Given the description of an element on the screen output the (x, y) to click on. 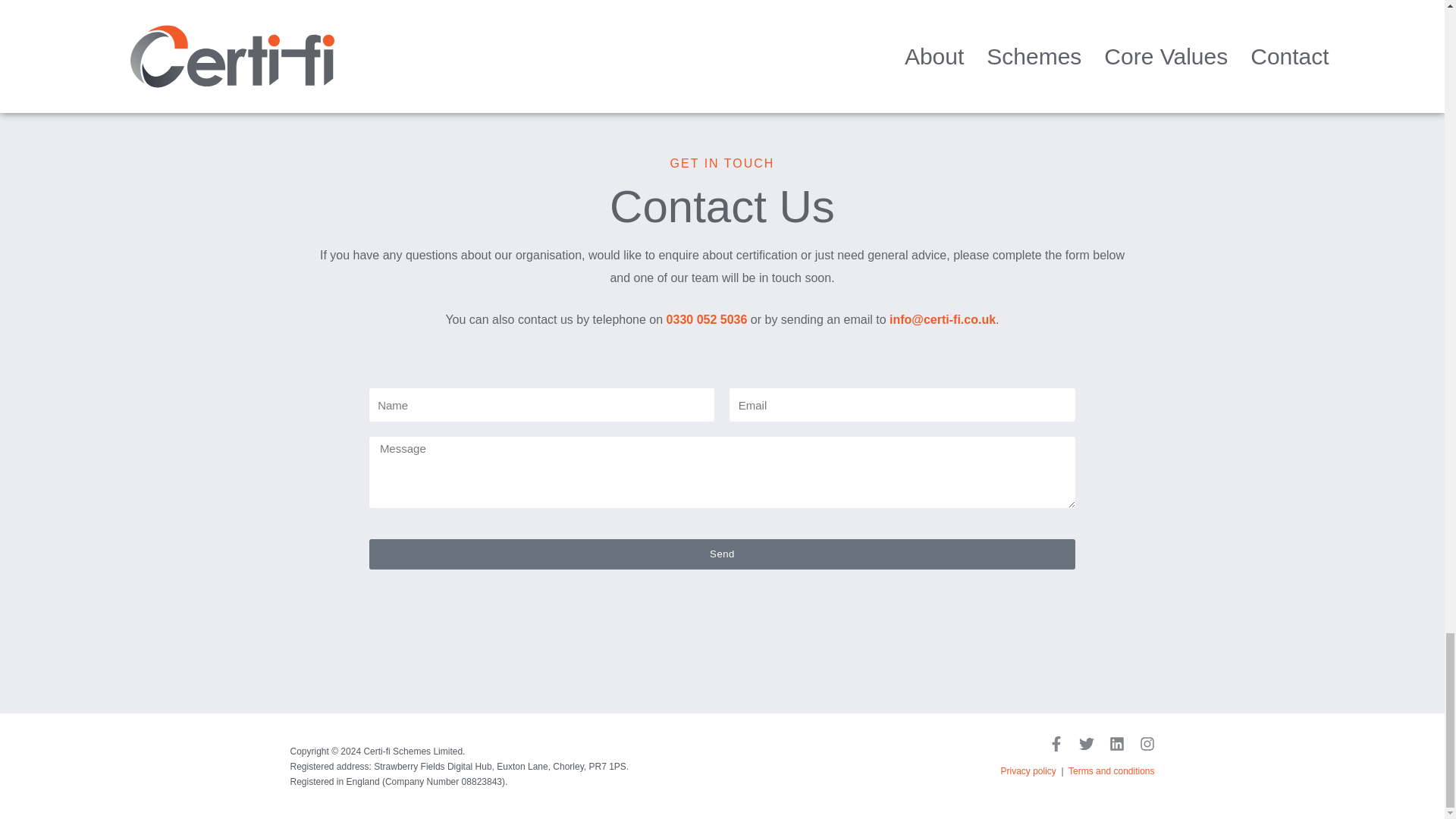
Privacy policy (1029, 770)
Instagram (1146, 743)
Facebook-f (1055, 743)
Linkedin (1116, 743)
Send (722, 553)
Twitter (1085, 743)
Terms and conditions (1111, 770)
0330 052 5036 (707, 318)
Privacy Policy (1029, 770)
Terms and Conditions (1111, 770)
